Given the description of an element on the screen output the (x, y) to click on. 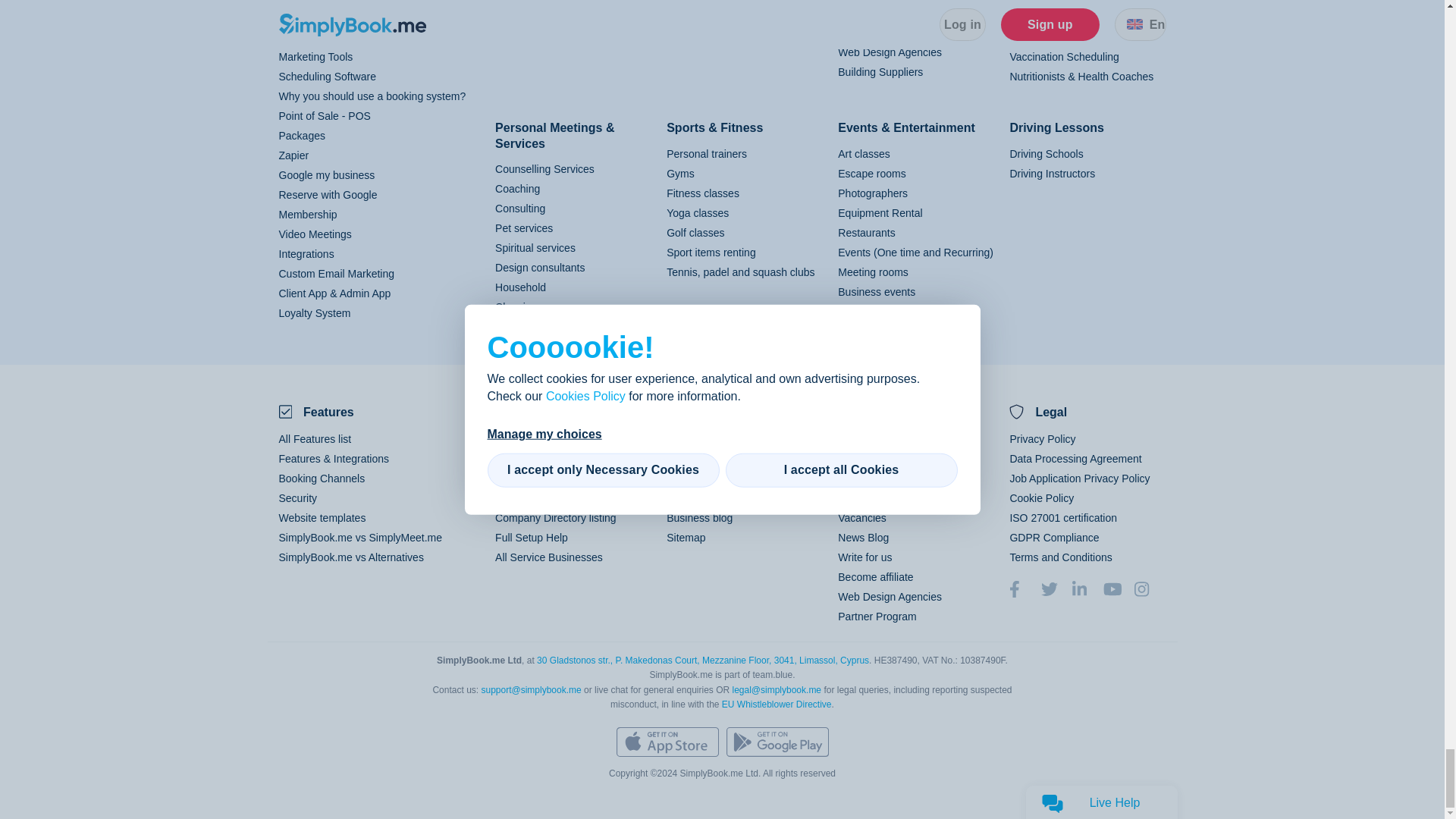
ISO 27001 certification (1062, 517)
Contacts (858, 498)
Business Types (532, 478)
Write for us (864, 557)
Security (298, 498)
Website templates (322, 517)
About us (858, 458)
Our team (860, 478)
Vacancies (862, 517)
Booking Channels (322, 478)
